Given the description of an element on the screen output the (x, y) to click on. 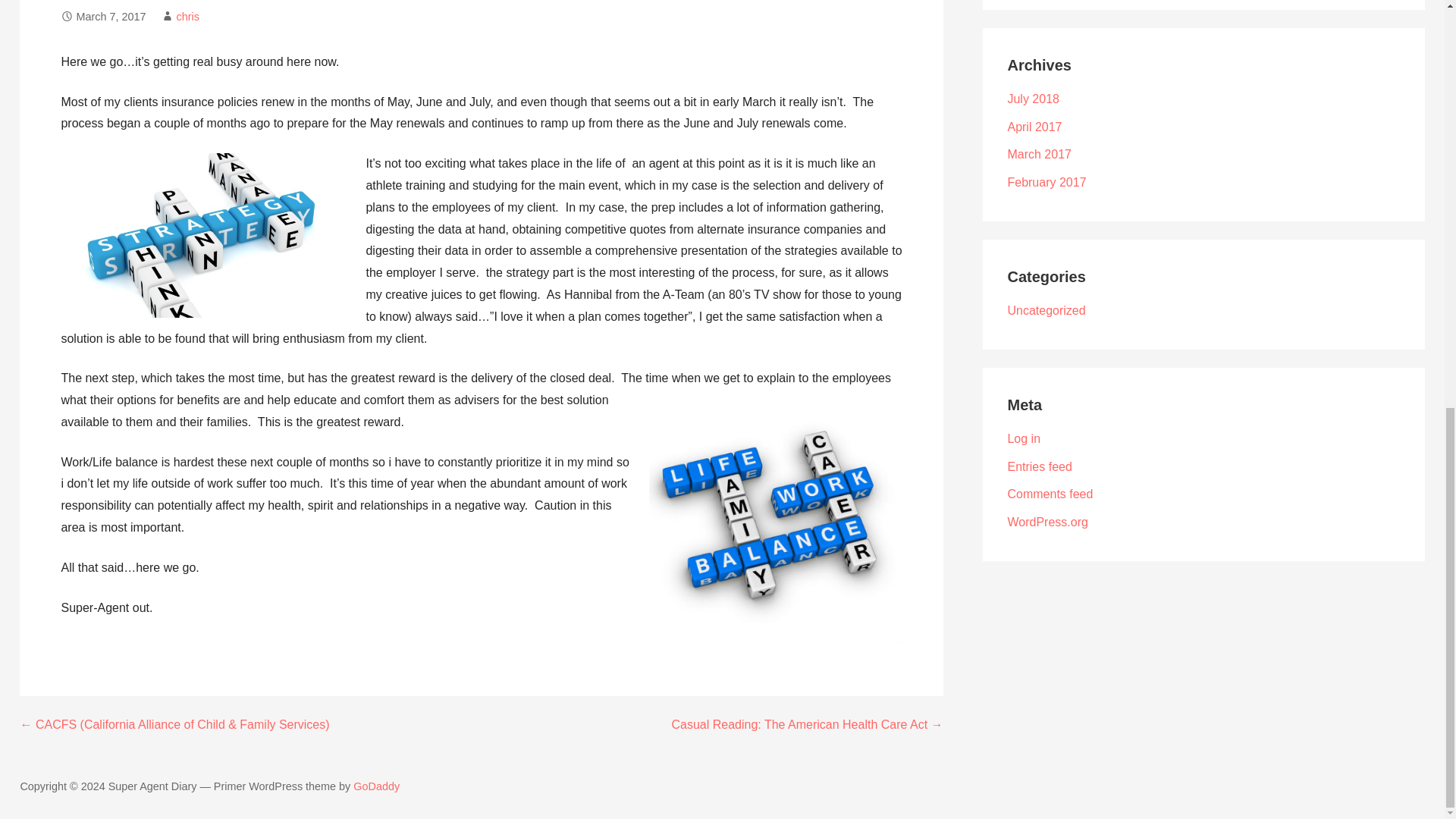
February 2017 (1046, 182)
Comments feed (1050, 493)
Uncategorized (1045, 309)
Log in (1024, 438)
WordPress.org (1047, 521)
Posts by chris (187, 16)
Entries feed (1039, 466)
March 2017 (1039, 154)
GoDaddy (375, 786)
July 2018 (1033, 98)
April 2017 (1034, 126)
chris (187, 16)
